Given the description of an element on the screen output the (x, y) to click on. 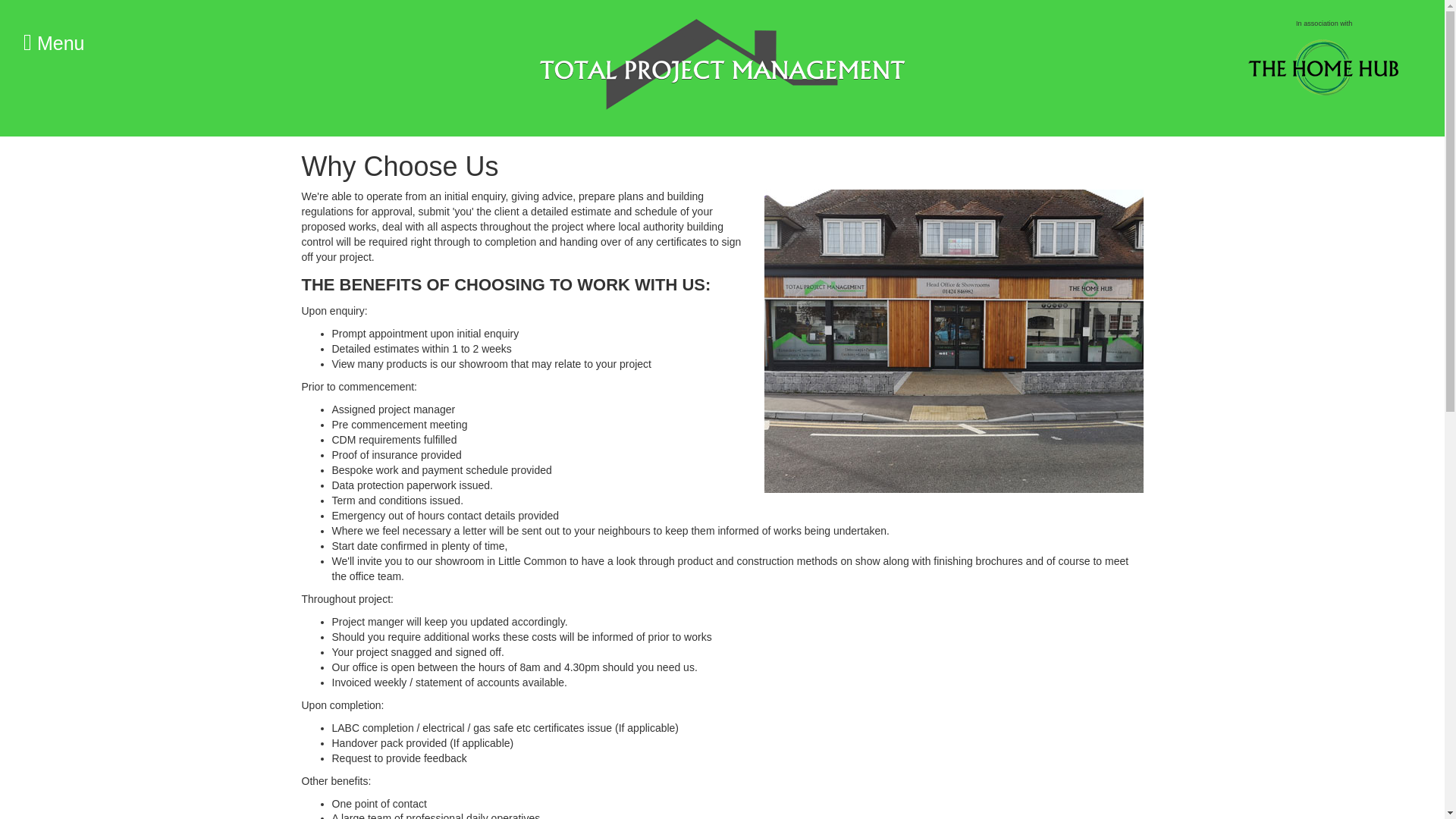
Menu (53, 33)
The Home Hub Bexhill (1323, 68)
Total Project Management Bexhill (722, 58)
